Given the description of an element on the screen output the (x, y) to click on. 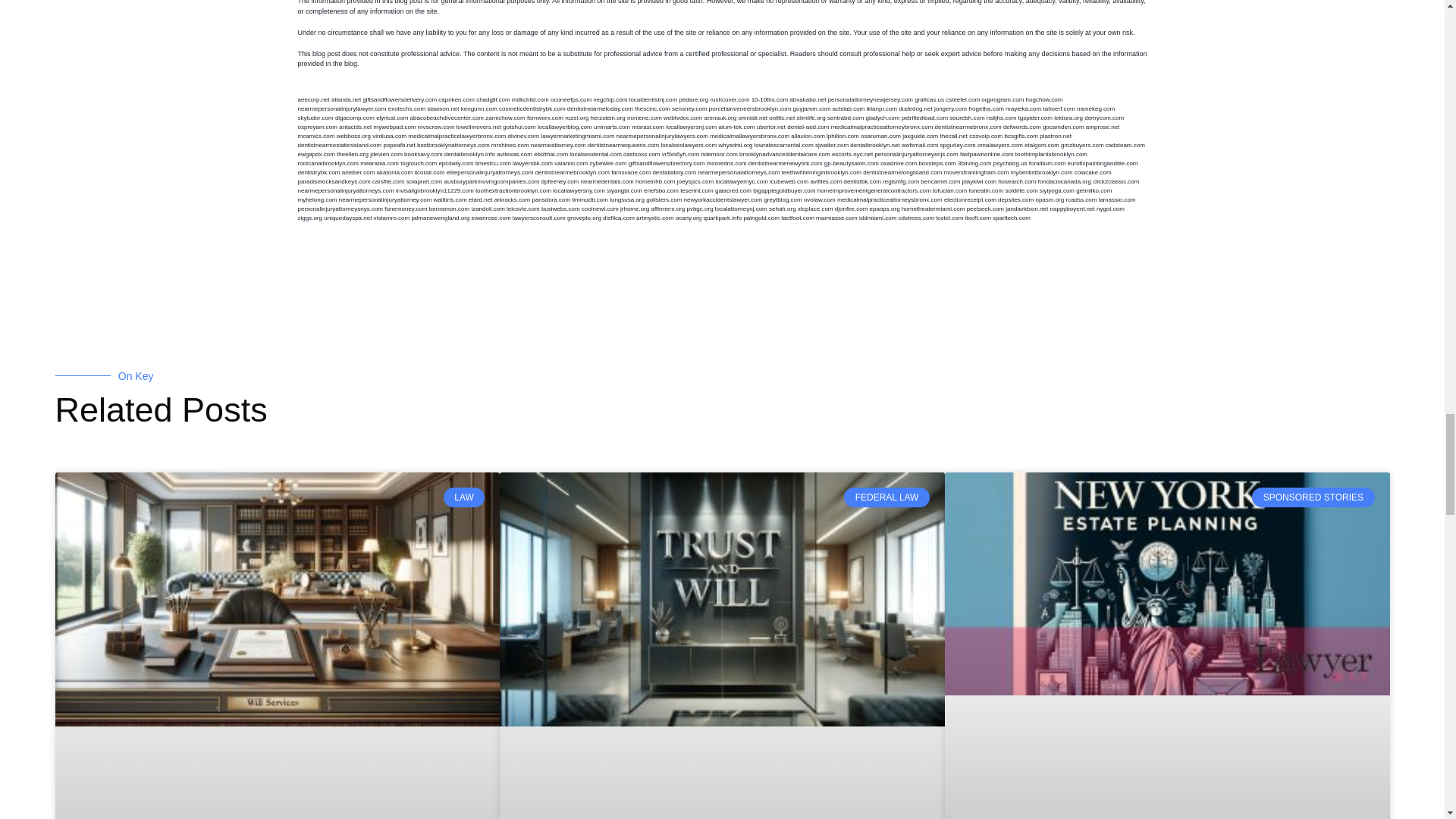
vegchip.com (609, 99)
personalattorneynewjersey.com (870, 99)
chadgill.com (492, 99)
capnken.com (456, 99)
aeecorp.net (313, 99)
oconeefps.com (570, 99)
giftsandflowersdelivery.com (399, 99)
10-10ths.com (769, 99)
csteefel.com (961, 99)
hogchow.com (1044, 99)
oqprogram.com (1002, 99)
localdentistnj.com (653, 99)
rushcover.com (729, 99)
pedare.org (692, 99)
graficas.us (928, 99)
